Given the description of an element on the screen output the (x, y) to click on. 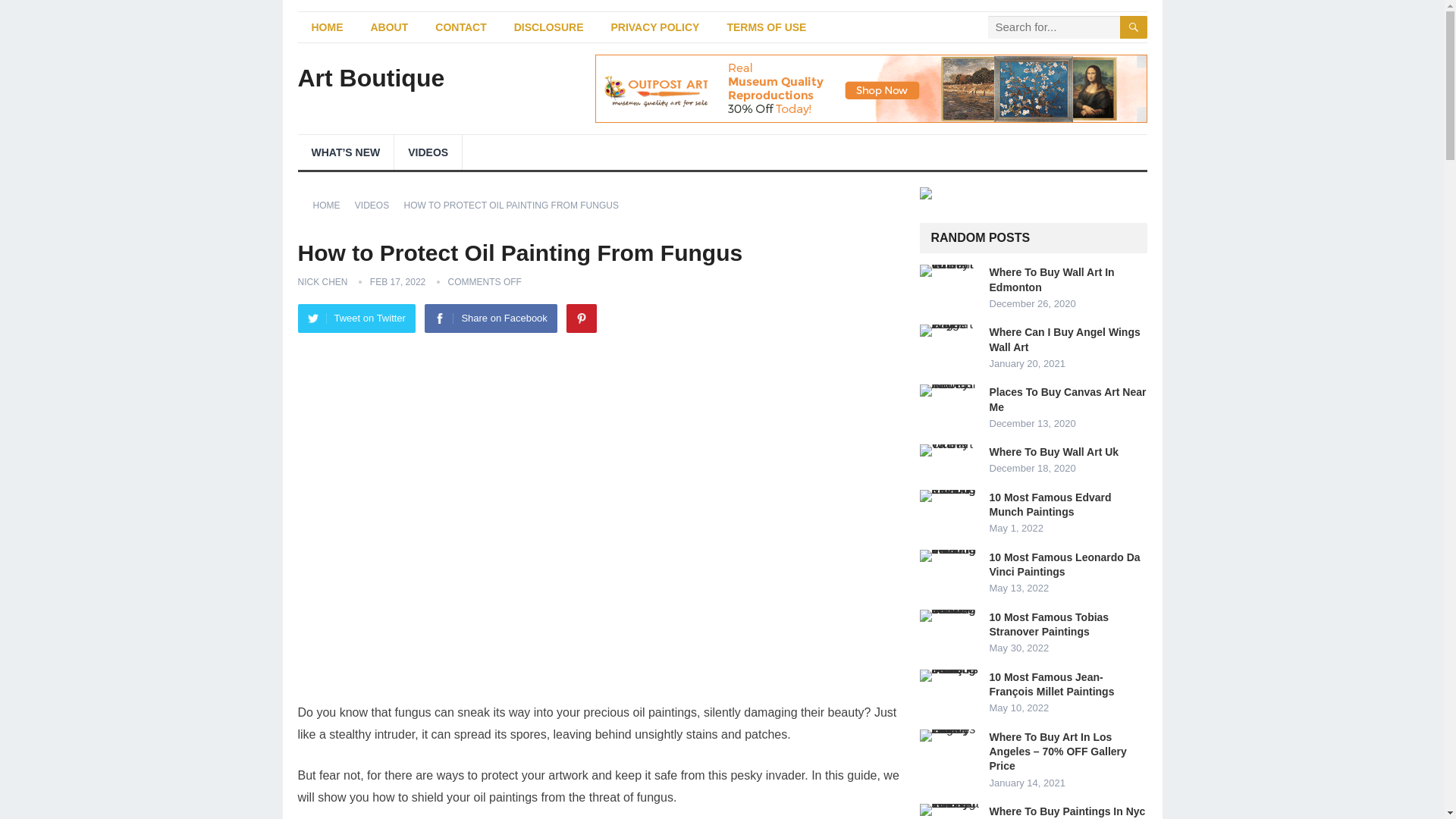
Where To Buy Wall Art In Edmonton 13 (948, 270)
10 Most Famous Leonardo Da Vinci Paintings 18 (948, 555)
TERMS OF USE (766, 27)
HOME (326, 27)
CONTACT (460, 27)
HOME (331, 204)
Pinterest (581, 317)
Posts by nick chen (322, 281)
VIDEOS (376, 204)
